Given the description of an element on the screen output the (x, y) to click on. 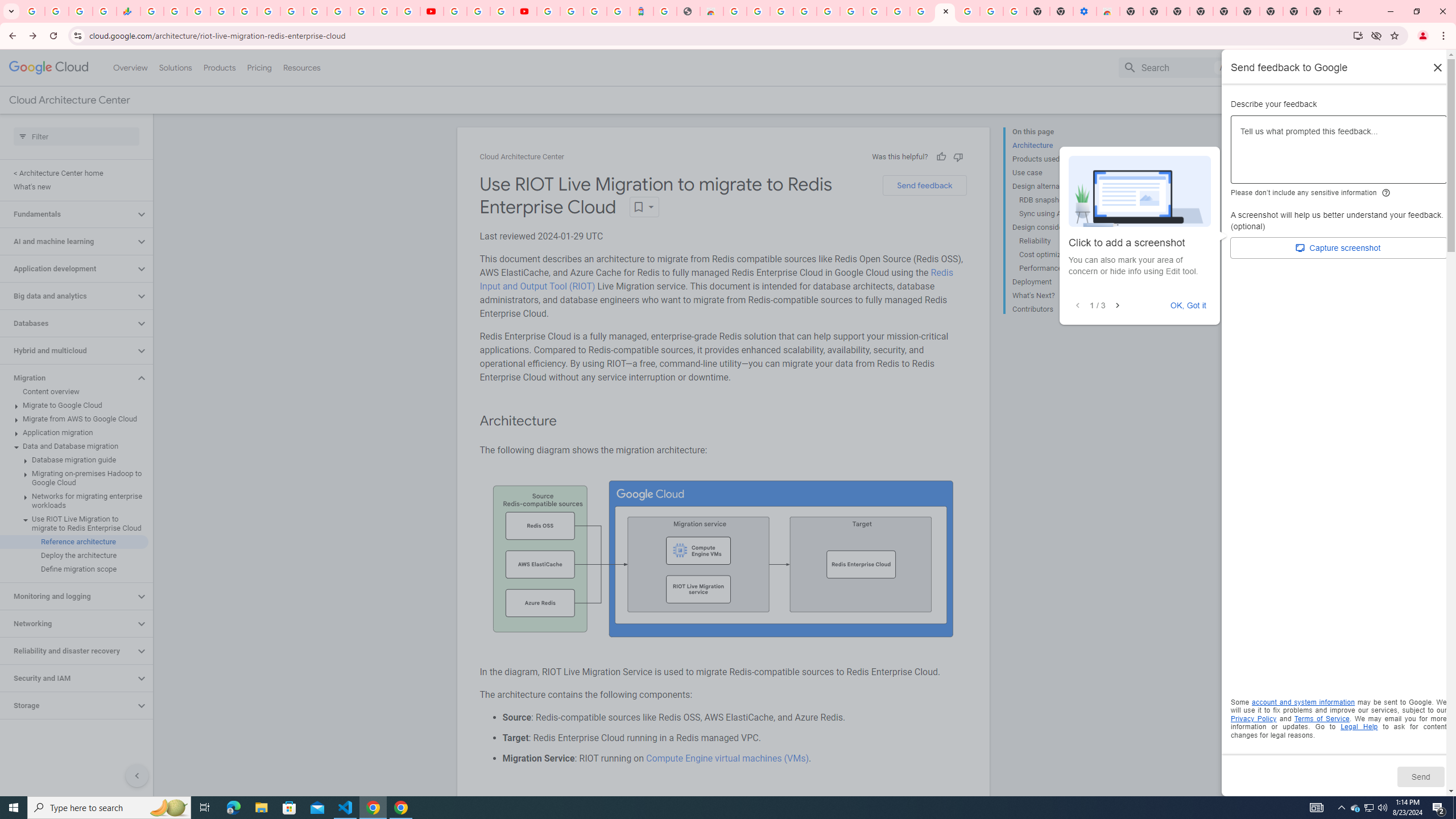
AI and machine learning (67, 241)
Next (1117, 305)
Overview (130, 67)
Sign in - Google Accounts (571, 11)
Cloud Architecture Center (521, 156)
Describe your feedback (1338, 153)
New Tab (1271, 11)
Send (1420, 776)
Application migration (74, 432)
Google Account Help (850, 11)
Migrate from AWS to Google Cloud (74, 418)
